Given the description of an element on the screen output the (x, y) to click on. 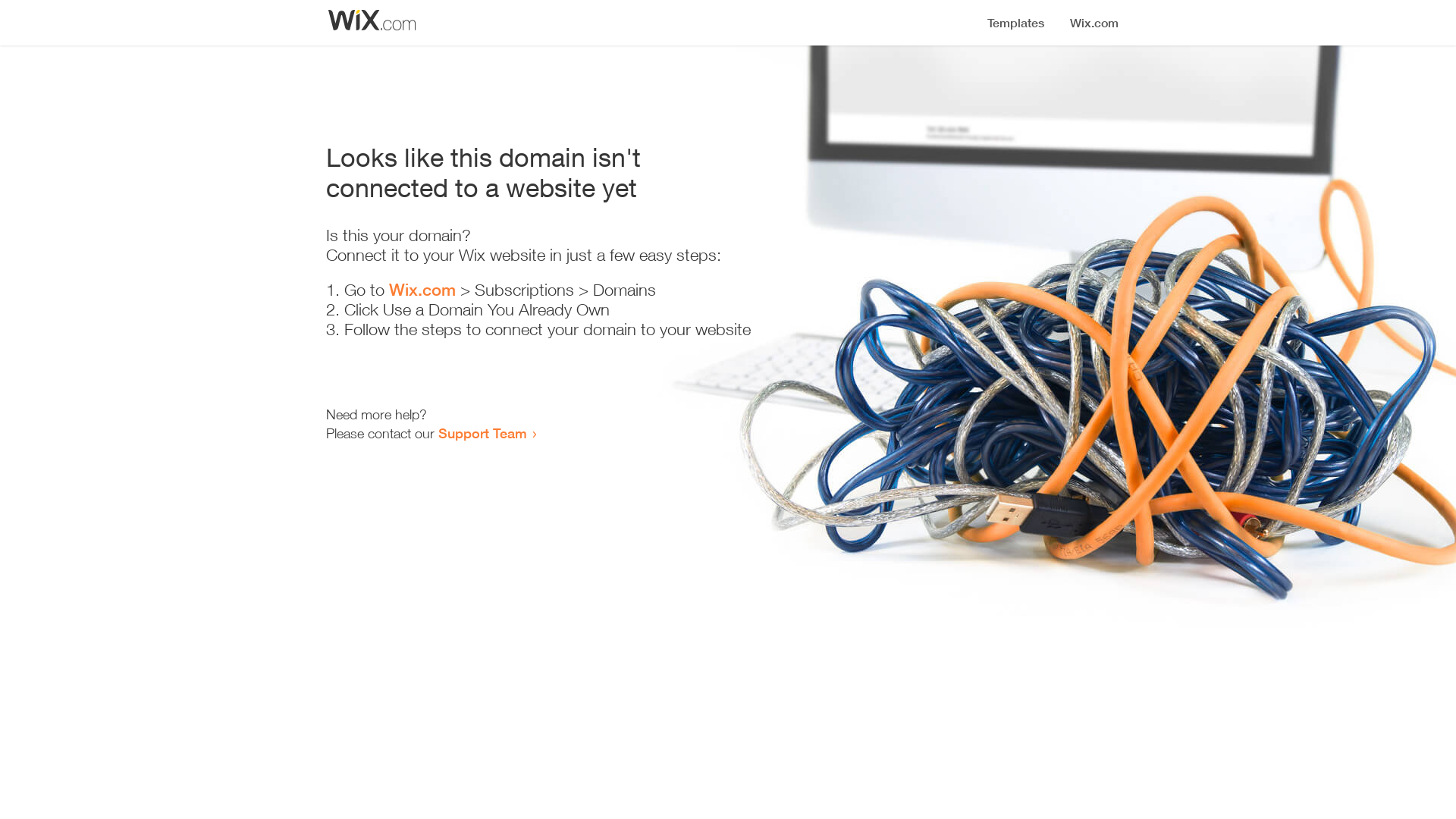
Wix.com Element type: text (422, 289)
Support Team Element type: text (482, 432)
